Given the description of an element on the screen output the (x, y) to click on. 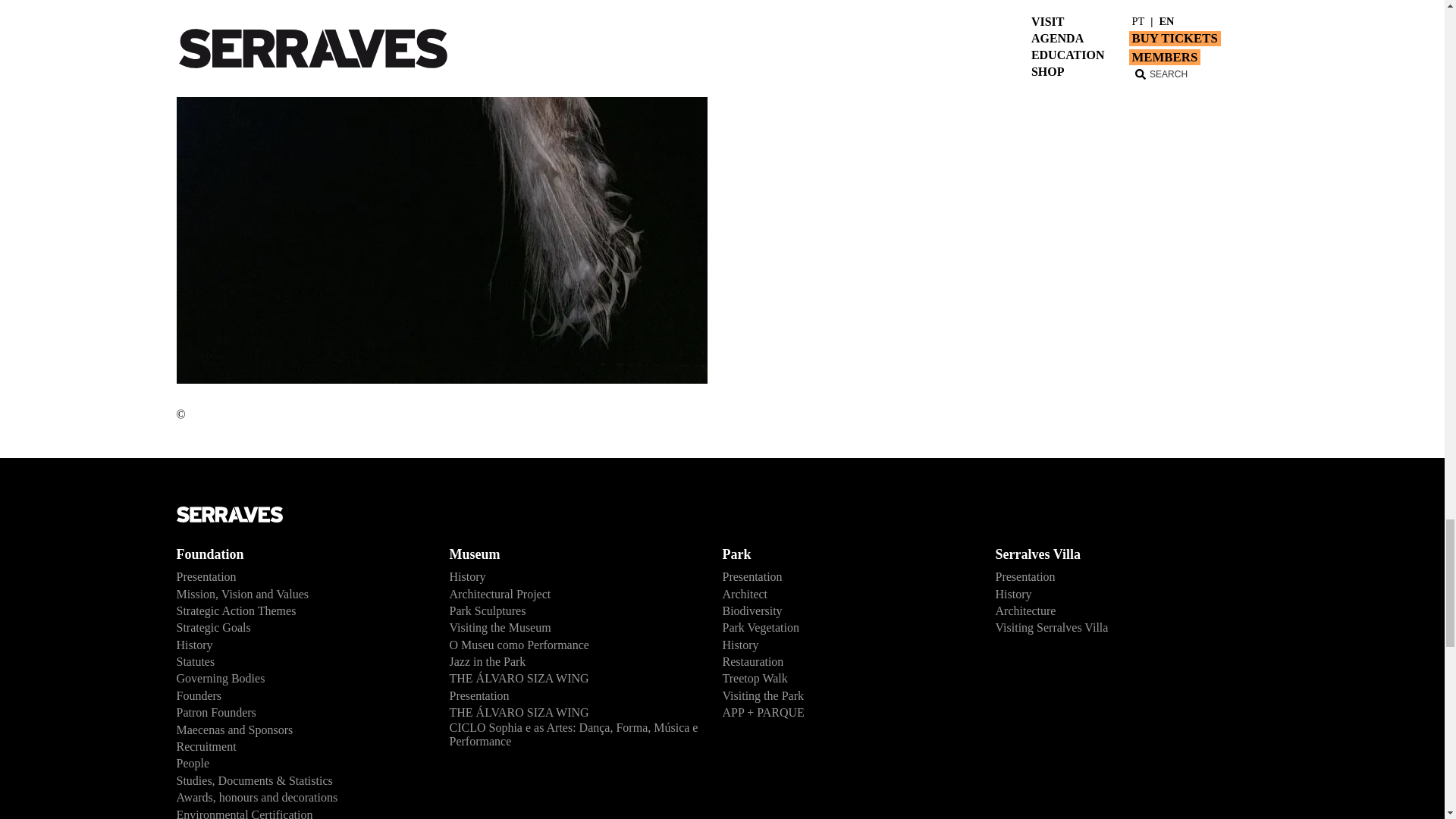
Statutes (300, 661)
Patron Founders (300, 712)
History (572, 576)
Presentation (300, 576)
Maecenas and Sponsors (300, 729)
Park Sculptures (572, 610)
Jazz in the Park (572, 661)
Strategic Action Themes (300, 610)
Architect (846, 593)
Recruitment (300, 745)
